Given the description of an element on the screen output the (x, y) to click on. 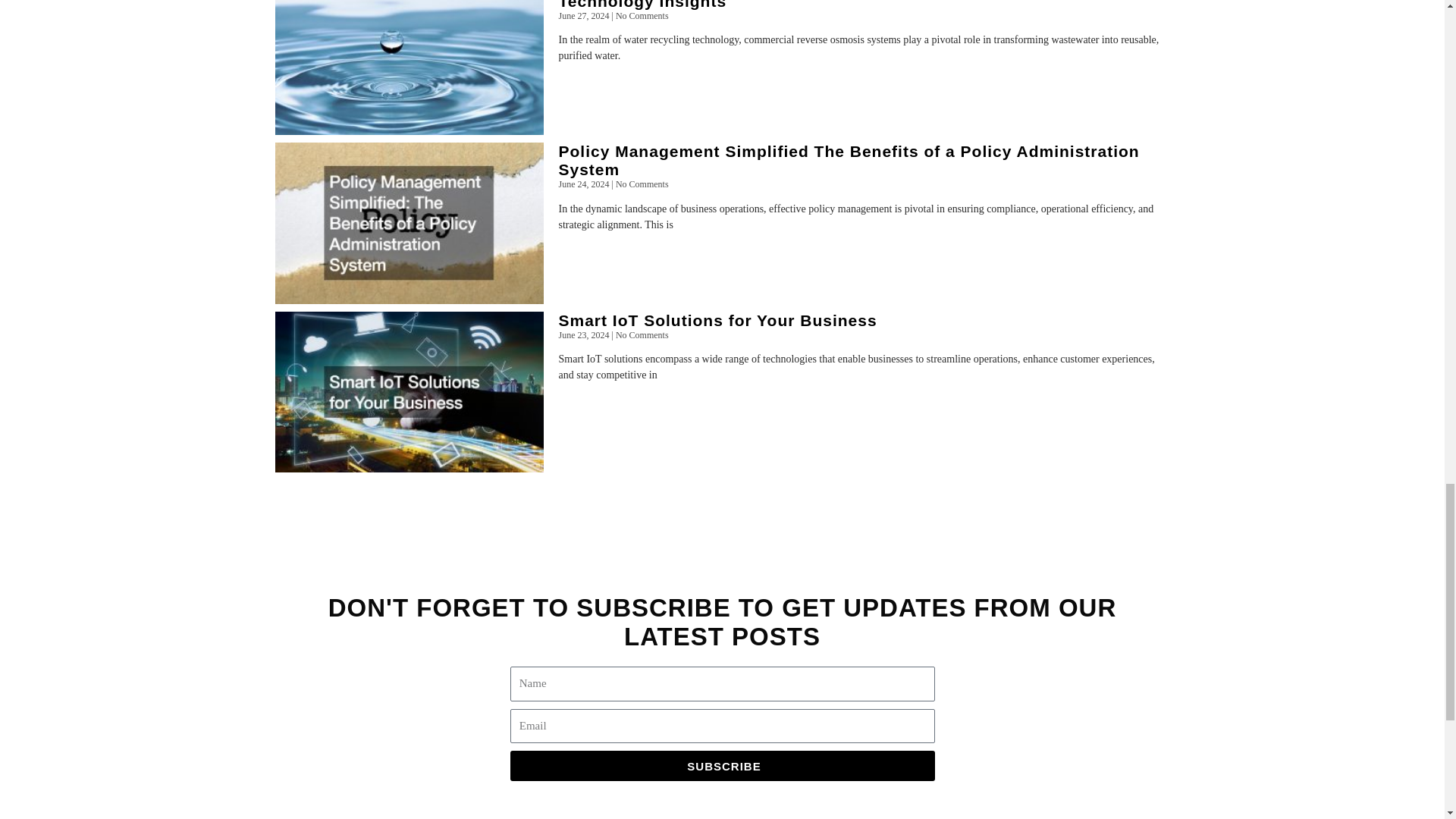
Smart IoT Solutions for Your Business (716, 319)
SUBSCRIBE (721, 766)
